Given the description of an element on the screen output the (x, y) to click on. 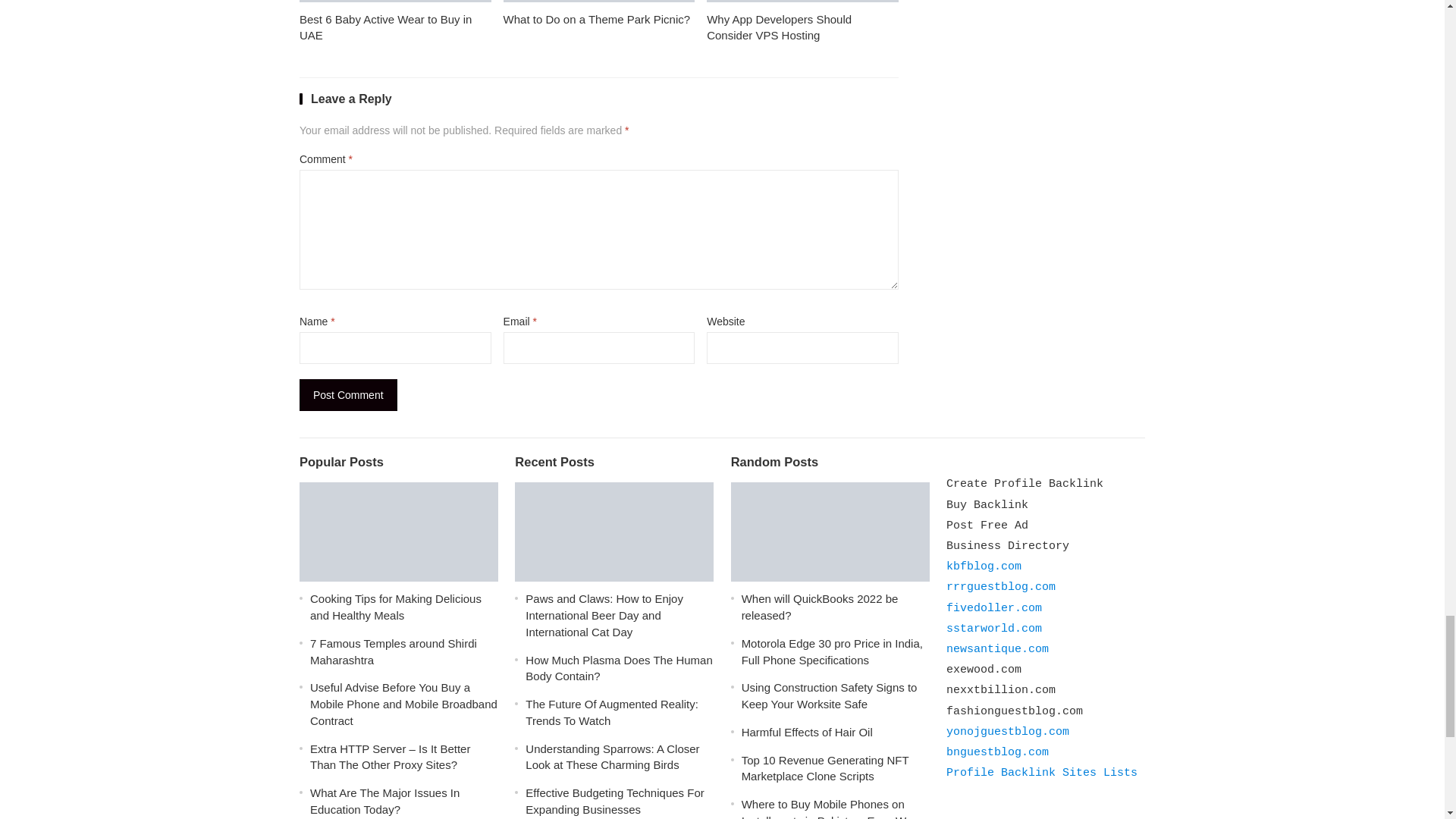
Post Comment (348, 395)
